Given the description of an element on the screen output the (x, y) to click on. 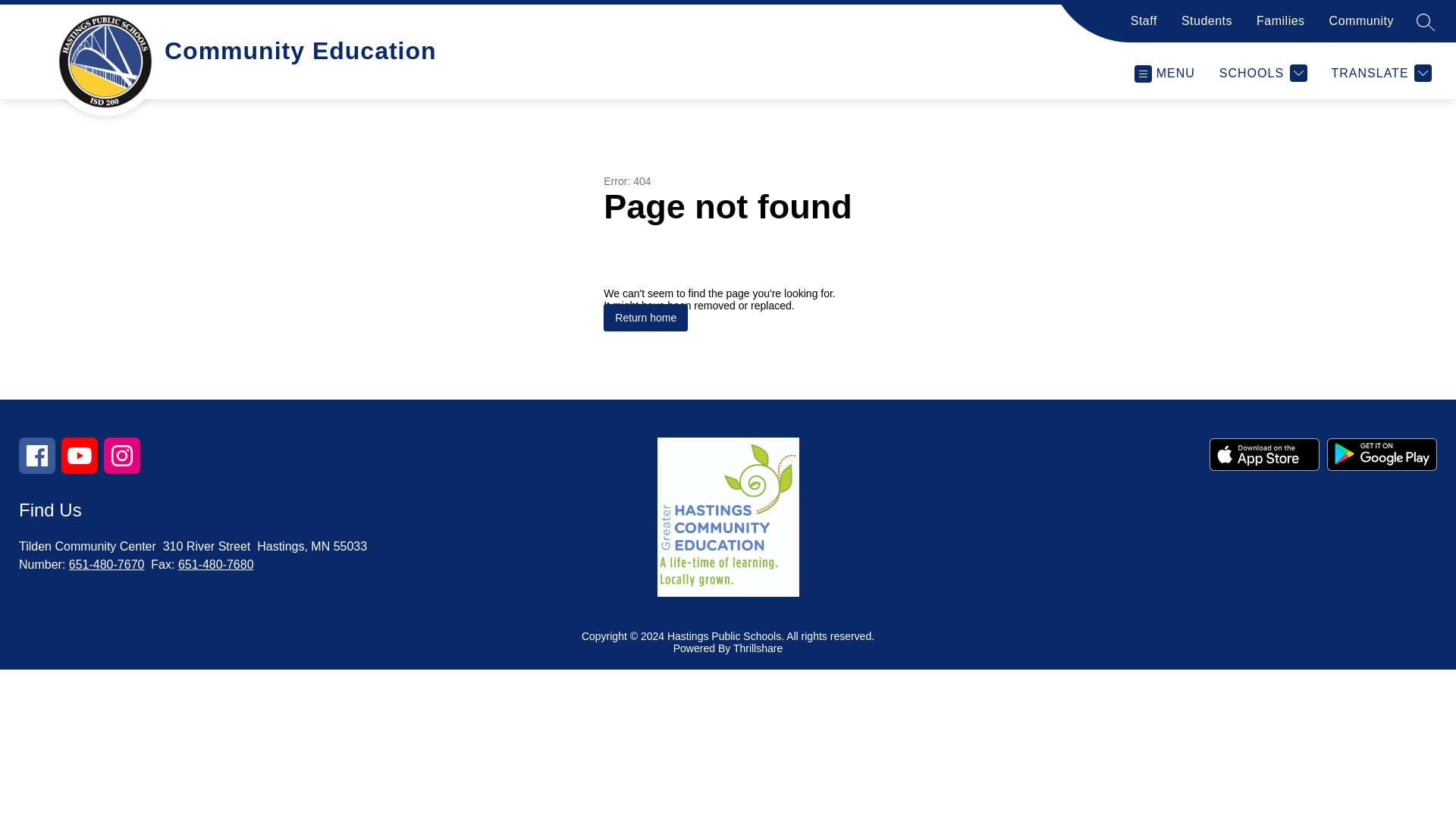
Community (1361, 27)
TRANSLATE (1382, 72)
651-480-7680 (215, 563)
SCHOOLS (1263, 72)
Return home (645, 317)
Families (1280, 27)
MENU (1163, 72)
651-480-7670 (106, 563)
Students (1205, 27)
Thrillshare (758, 648)
